Given the description of an element on the screen output the (x, y) to click on. 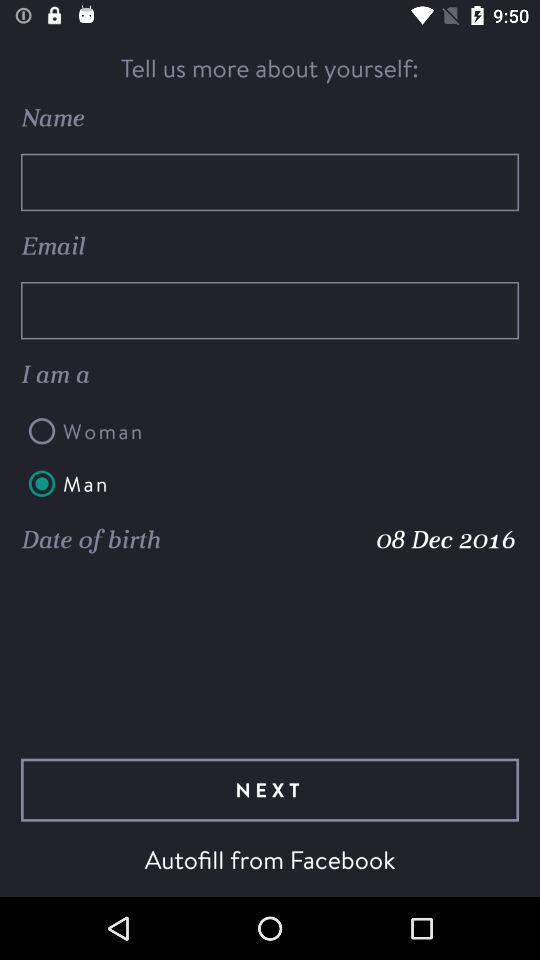
choose the icon below email item (269, 310)
